Given the description of an element on the screen output the (x, y) to click on. 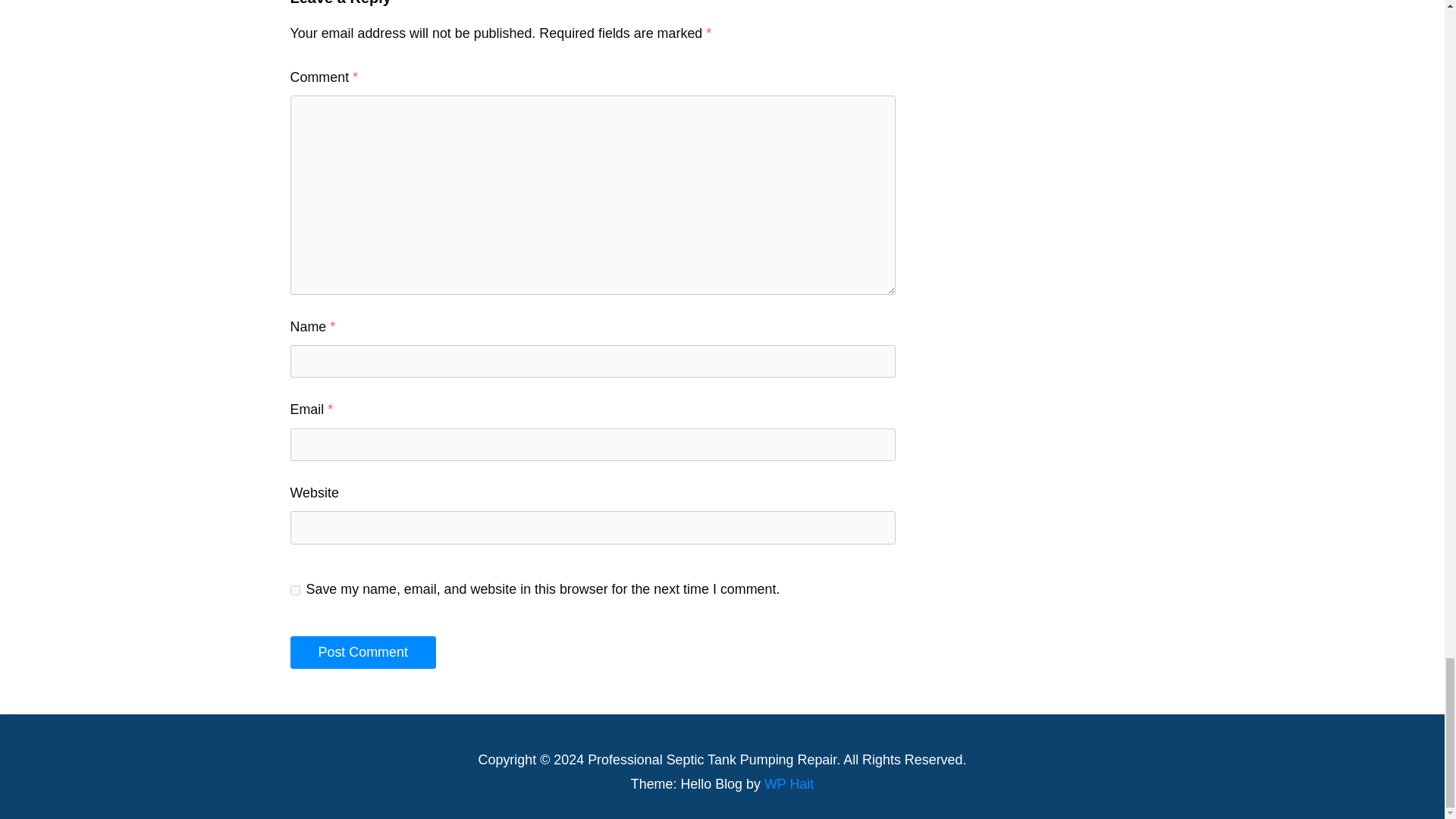
yes (294, 590)
Post Comment (362, 652)
Post Comment (362, 652)
